Given the description of an element on the screen output the (x, y) to click on. 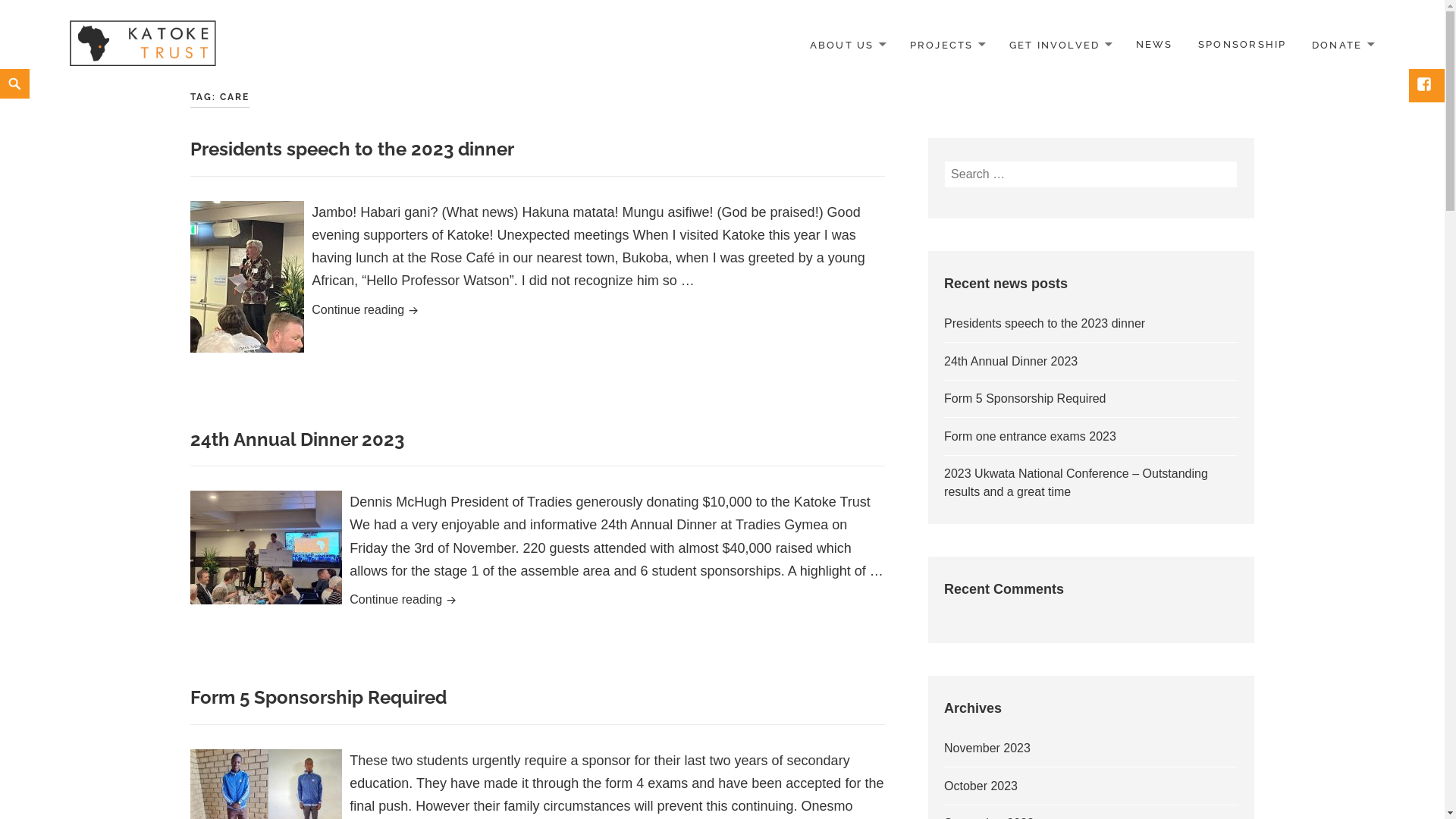
24th Annual Dinner 2023 Element type: text (297, 438)
Search Element type: text (3, 69)
Skip to content Element type: text (0, 68)
Continue reading
Presidents speech to the 2023 dinner Element type: text (537, 310)
Form 5 Sponsorship Required Element type: text (1024, 398)
DONATE Element type: text (1341, 44)
Katoke Trust for Overseas Aid Element type: hover (142, 44)
PROJECTS Element type: text (946, 44)
October 2023 Element type: text (980, 785)
Presidents speech to the 2023 dinner Element type: text (1044, 322)
November 2023 Element type: text (987, 747)
Presidents speech to the 2023 dinner Element type: text (352, 149)
Facebook Element type: text (1425, 85)
Continue reading
24th Annual Dinner 2023 Element type: text (537, 599)
SPONSORSHIP Element type: text (1241, 44)
Form one entrance exams 2023 Element type: text (1030, 435)
GET INVOLVED Element type: text (1059, 44)
ABOUT US Element type: text (846, 44)
Search Element type: text (1237, 160)
Form 5 Sponsorship Required Element type: text (318, 697)
24th Annual Dinner 2023 Element type: text (1010, 360)
NEWS Element type: text (1154, 44)
